Given the description of an element on the screen output the (x, y) to click on. 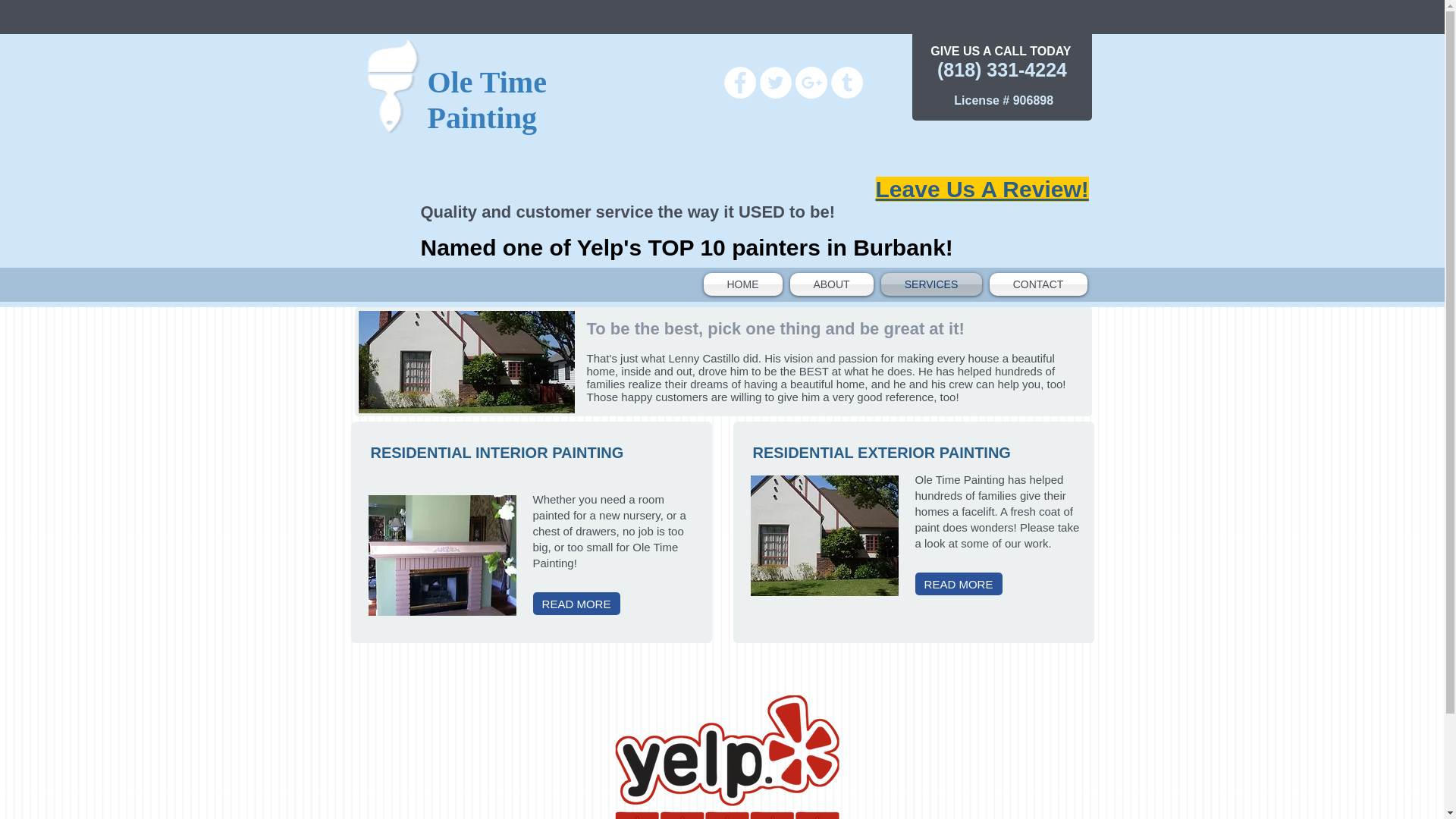
ABOUT (831, 283)
lenny 26 exterior.jpg (465, 362)
READ MORE (576, 603)
lenny interior.jpg (442, 555)
SERVICES (930, 283)
Leave Us A Review! (981, 188)
CONTACT (1036, 283)
lenny 26 exterior.jpg (824, 535)
READ MORE (957, 583)
HOME (744, 283)
